Given the description of an element on the screen output the (x, y) to click on. 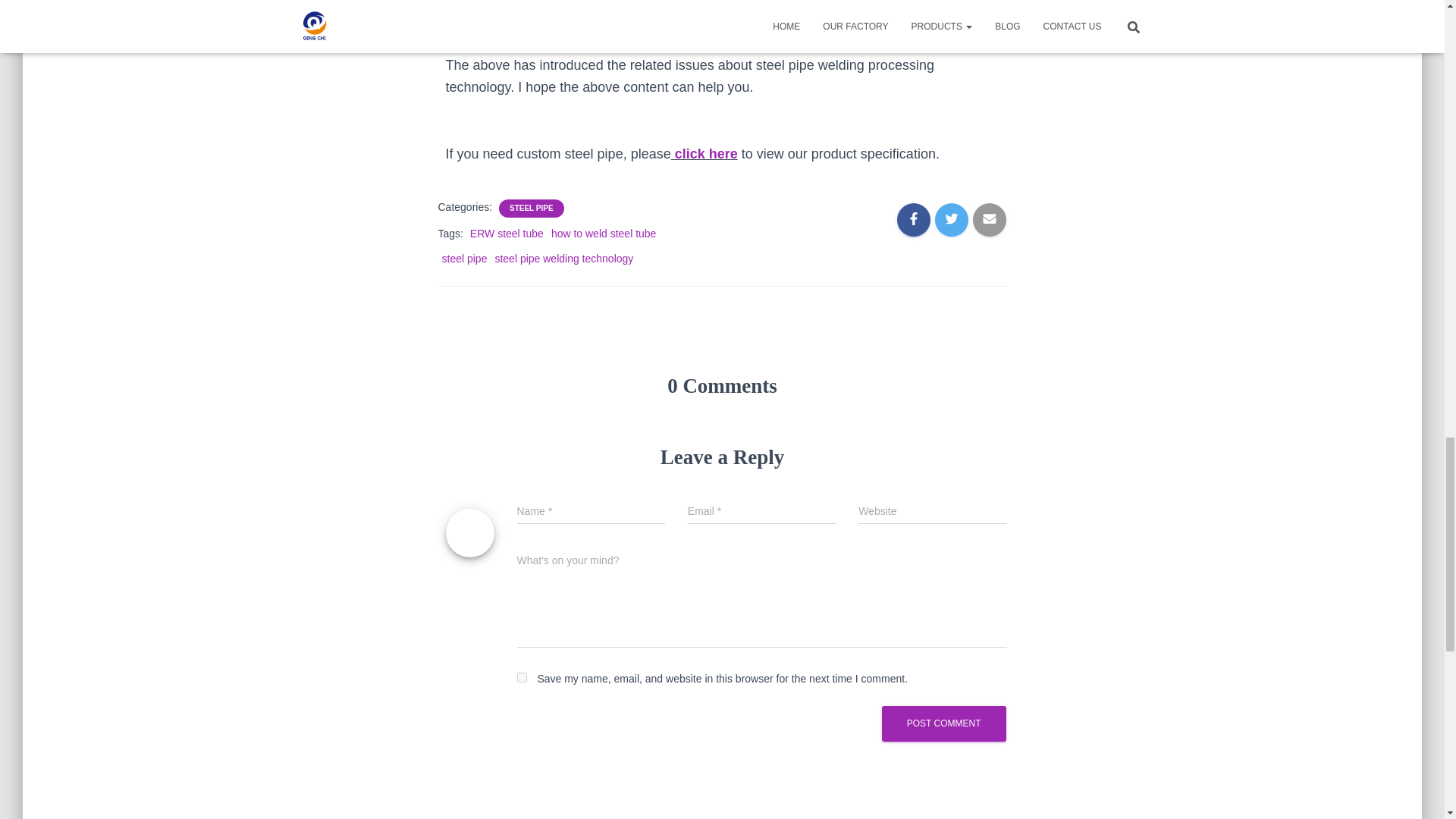
ERW steel tube (506, 233)
click here (706, 153)
steel pipe (463, 258)
how to weld steel tube (603, 233)
Post Comment (944, 723)
yes (521, 677)
Post Comment (944, 723)
steel pipe welding technology (564, 258)
STEEL PIPE (531, 208)
